Given the description of an element on the screen output the (x, y) to click on. 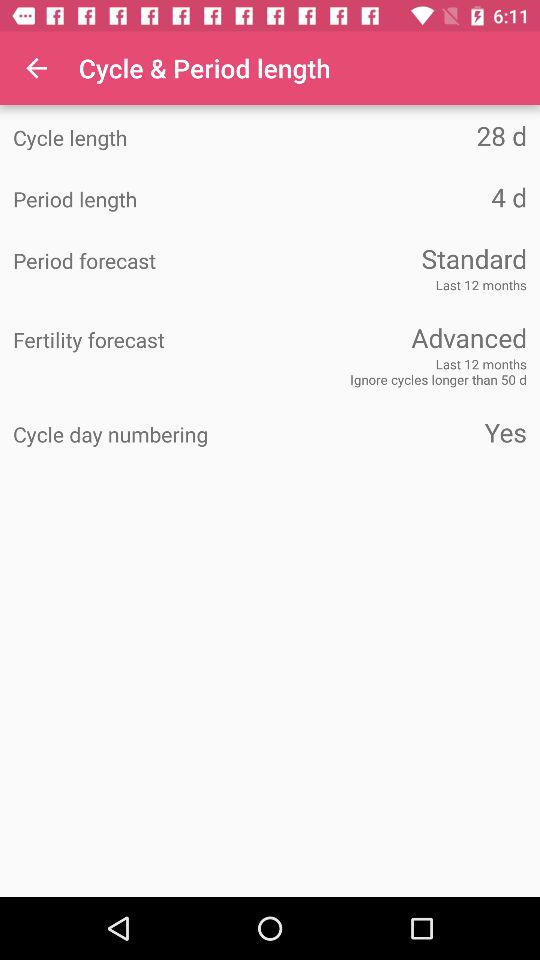
launch icon to the left of advanced item (141, 340)
